Given the description of an element on the screen output the (x, y) to click on. 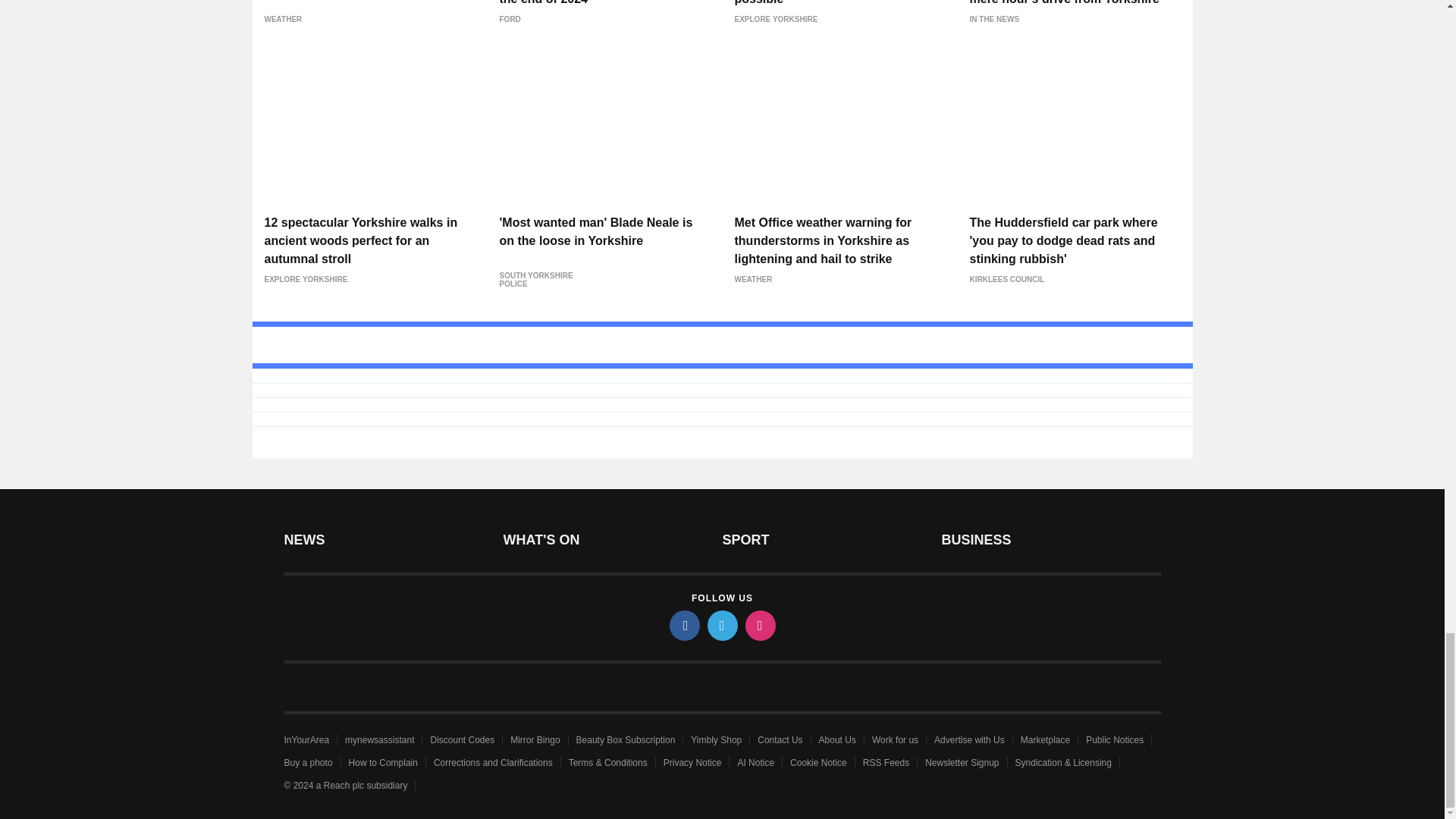
twitter (721, 625)
instagram (759, 625)
facebook (683, 625)
